Given the description of an element on the screen output the (x, y) to click on. 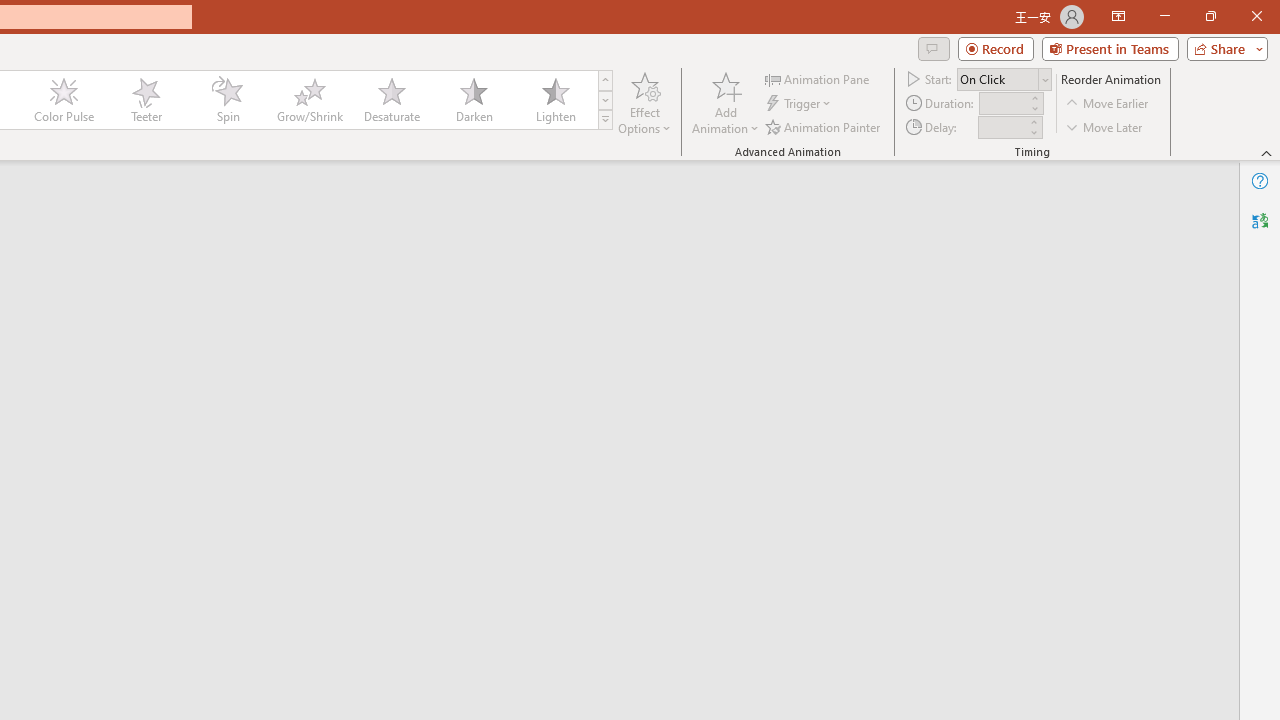
Lighten (555, 100)
Move Later (1105, 126)
Trigger (799, 103)
Teeter (145, 100)
Move Earlier (1107, 103)
